Given the description of an element on the screen output the (x, y) to click on. 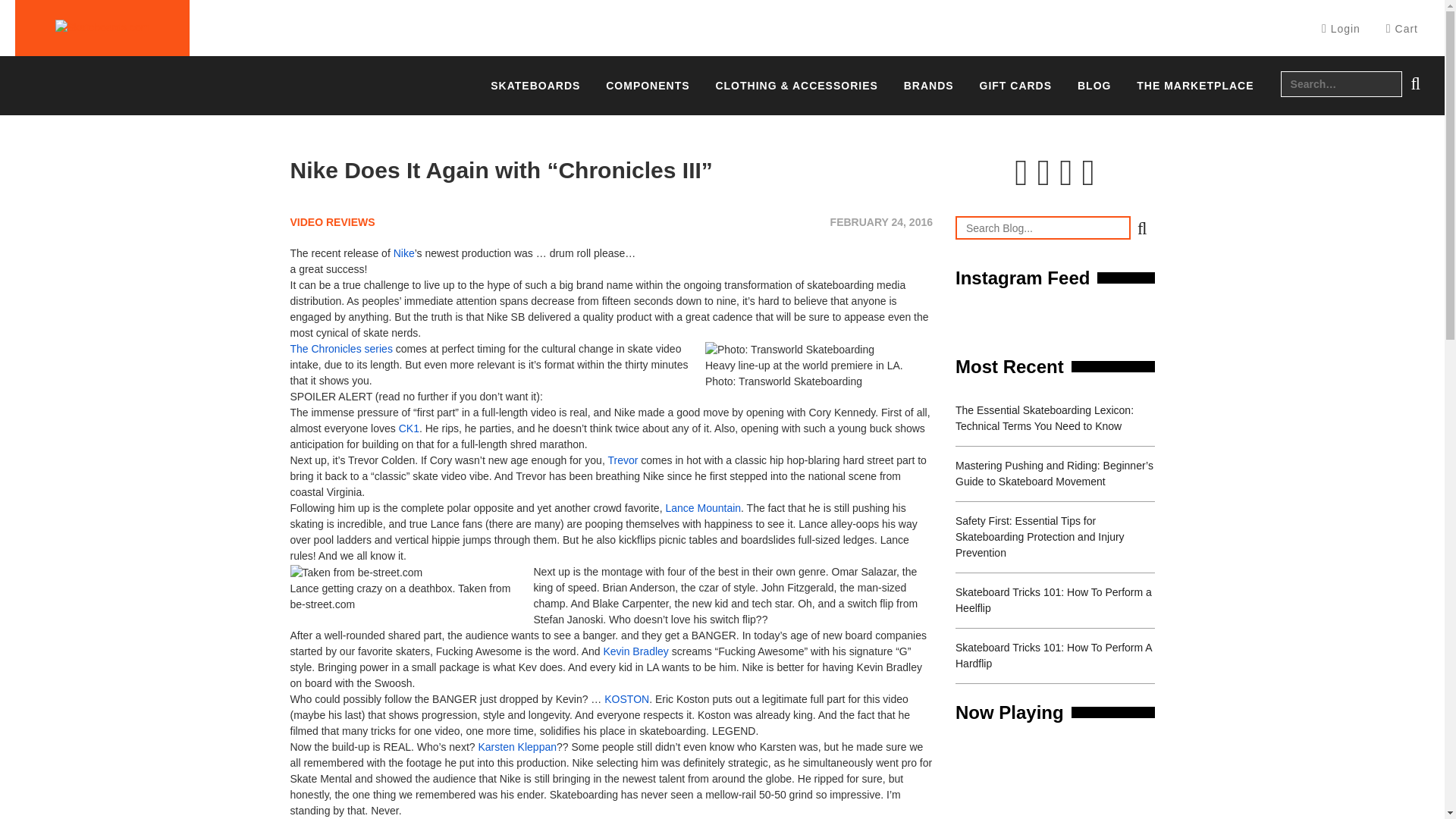
SKATEBOARDS (535, 85)
Cart (1402, 28)
Login (1340, 28)
Search (1415, 84)
COMPONENTS (647, 85)
THE MARKETPLACE (1195, 85)
BRANDS (928, 85)
GIFT CARDS (1016, 85)
BLOG (1093, 85)
